Given the description of an element on the screen output the (x, y) to click on. 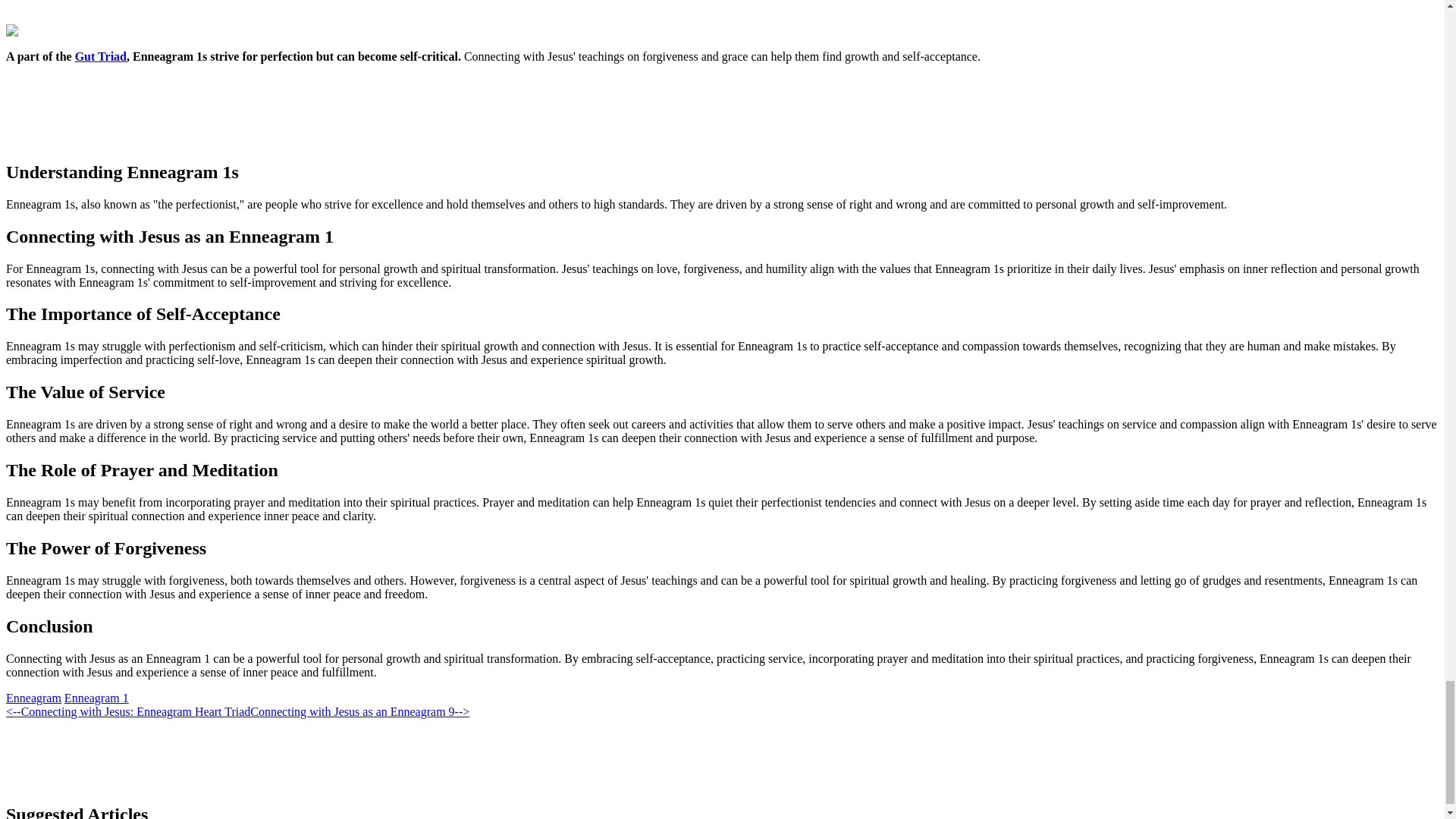
Gut Triad (100, 56)
Enneagram (33, 697)
Enneagram 1 (96, 697)
